Given the description of an element on the screen output the (x, y) to click on. 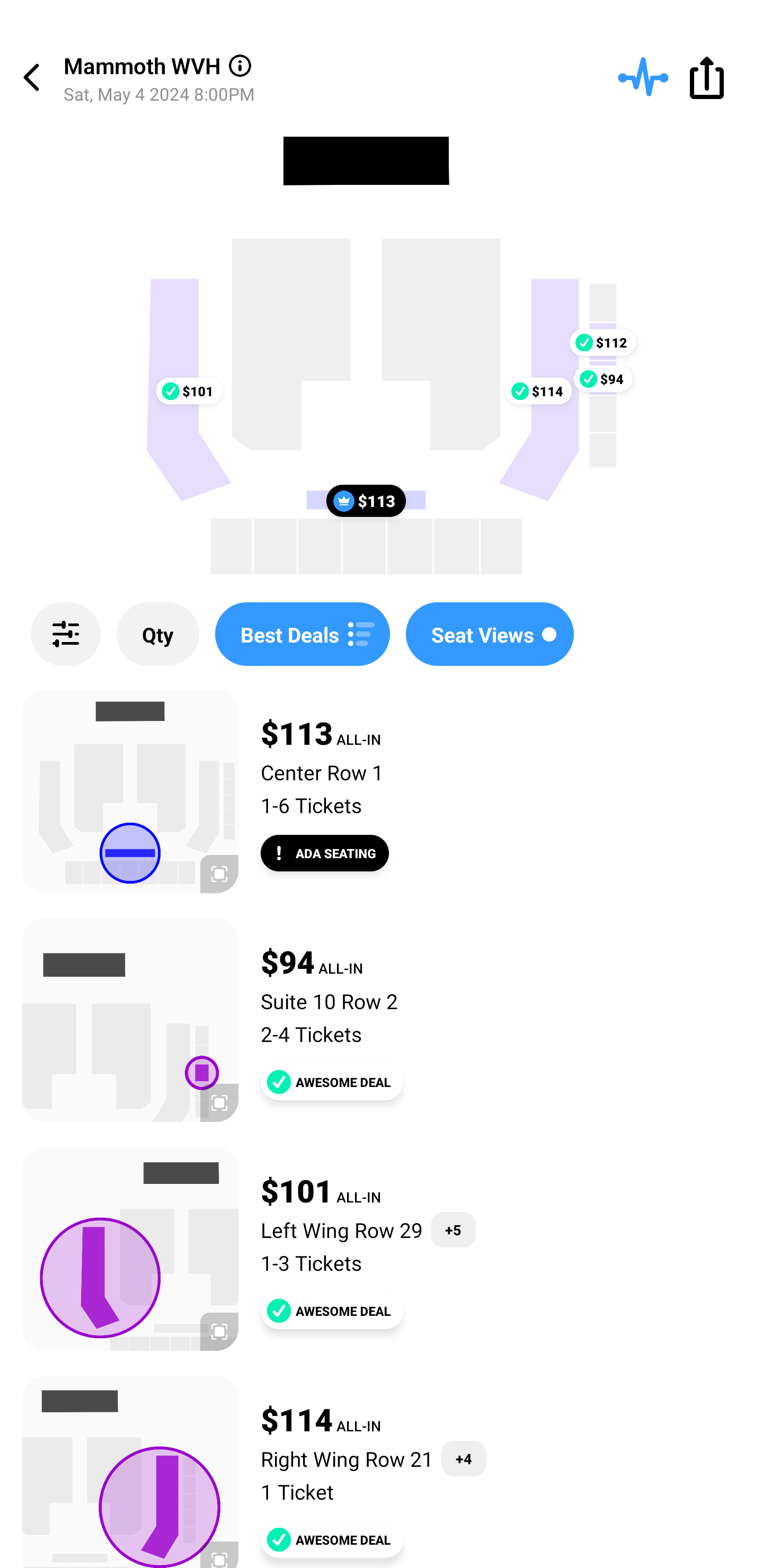
Qty (157, 634)
Best Deals (302, 634)
Seat Views (489, 634)
ADA SEATING (324, 852)
AWESOME DEAL (331, 1081)
+5 (453, 1230)
AWESOME DEAL (331, 1310)
+4 (463, 1458)
AWESOME DEAL (331, 1539)
